Given the description of an element on the screen output the (x, y) to click on. 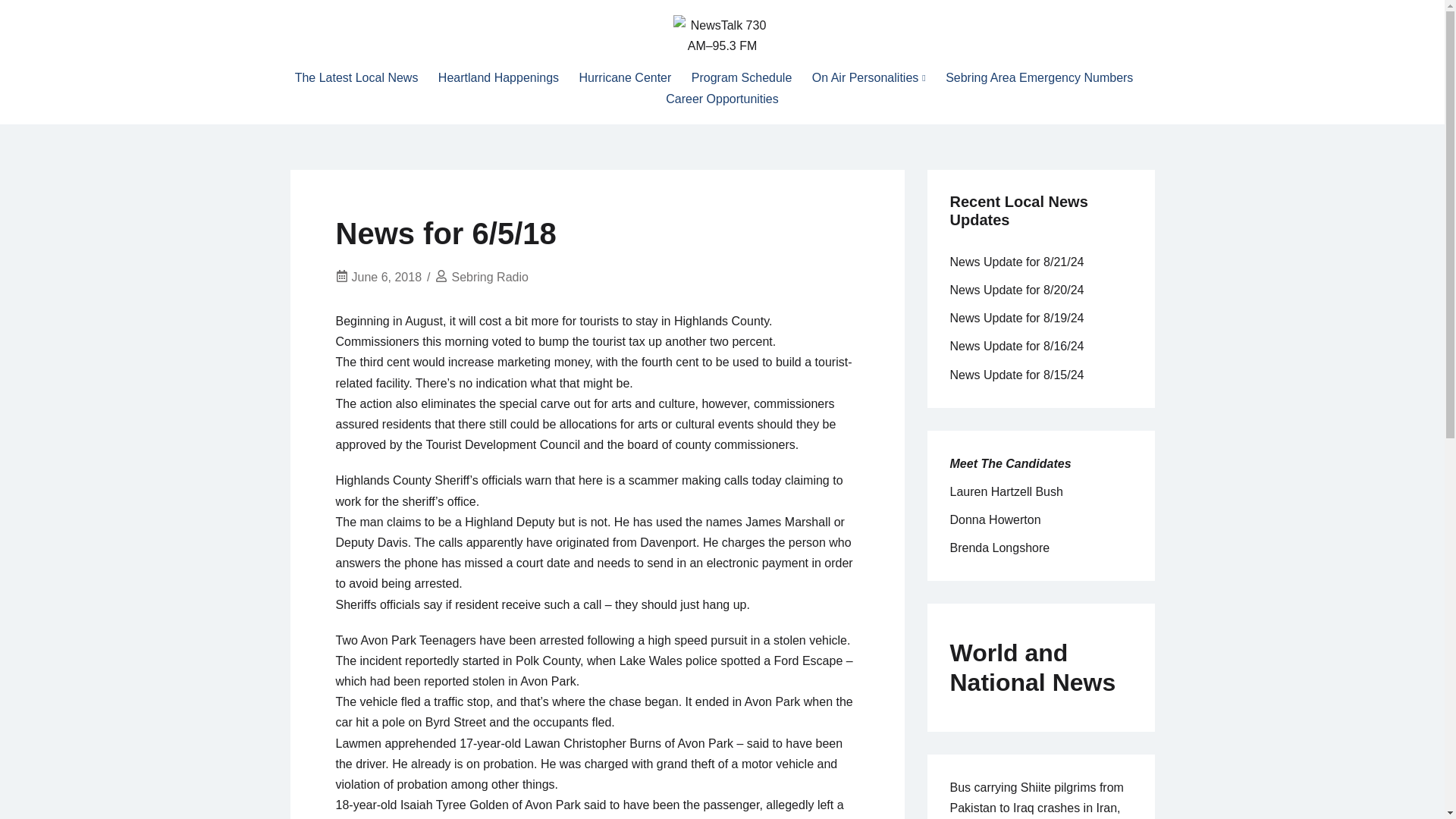
Heartland Happenings (498, 77)
Sebring Radio (489, 277)
Donna Howerton (995, 519)
June 6, 2018 (387, 277)
The Latest Local News (357, 77)
On Air Personalities (869, 77)
Hurricane Center (625, 77)
Career Opportunities (721, 98)
Program Schedule (741, 77)
